Given the description of an element on the screen output the (x, y) to click on. 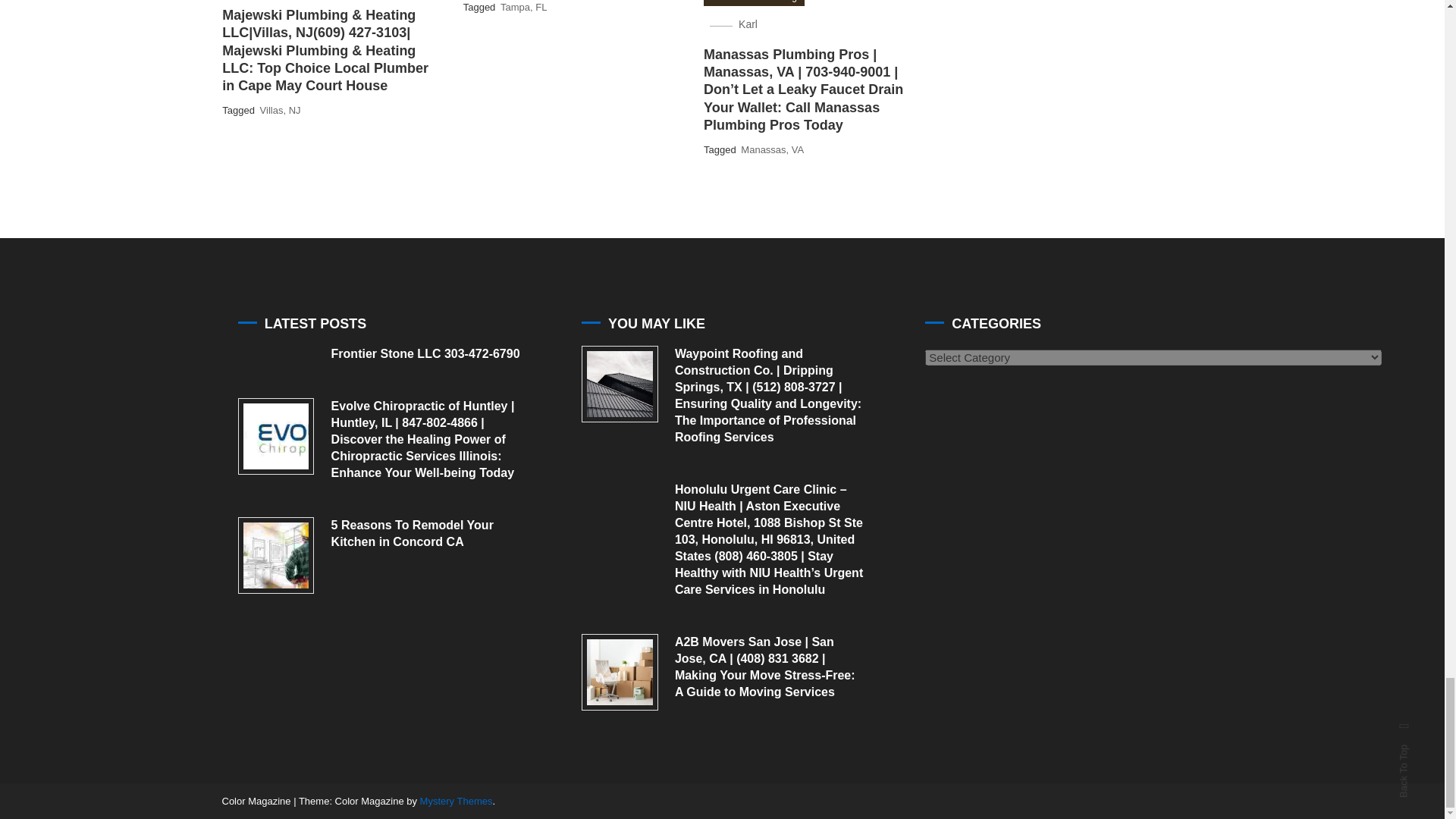
5 Reasons To Remodel Your Kitchen in Concord CA (276, 554)
